Given the description of an element on the screen output the (x, y) to click on. 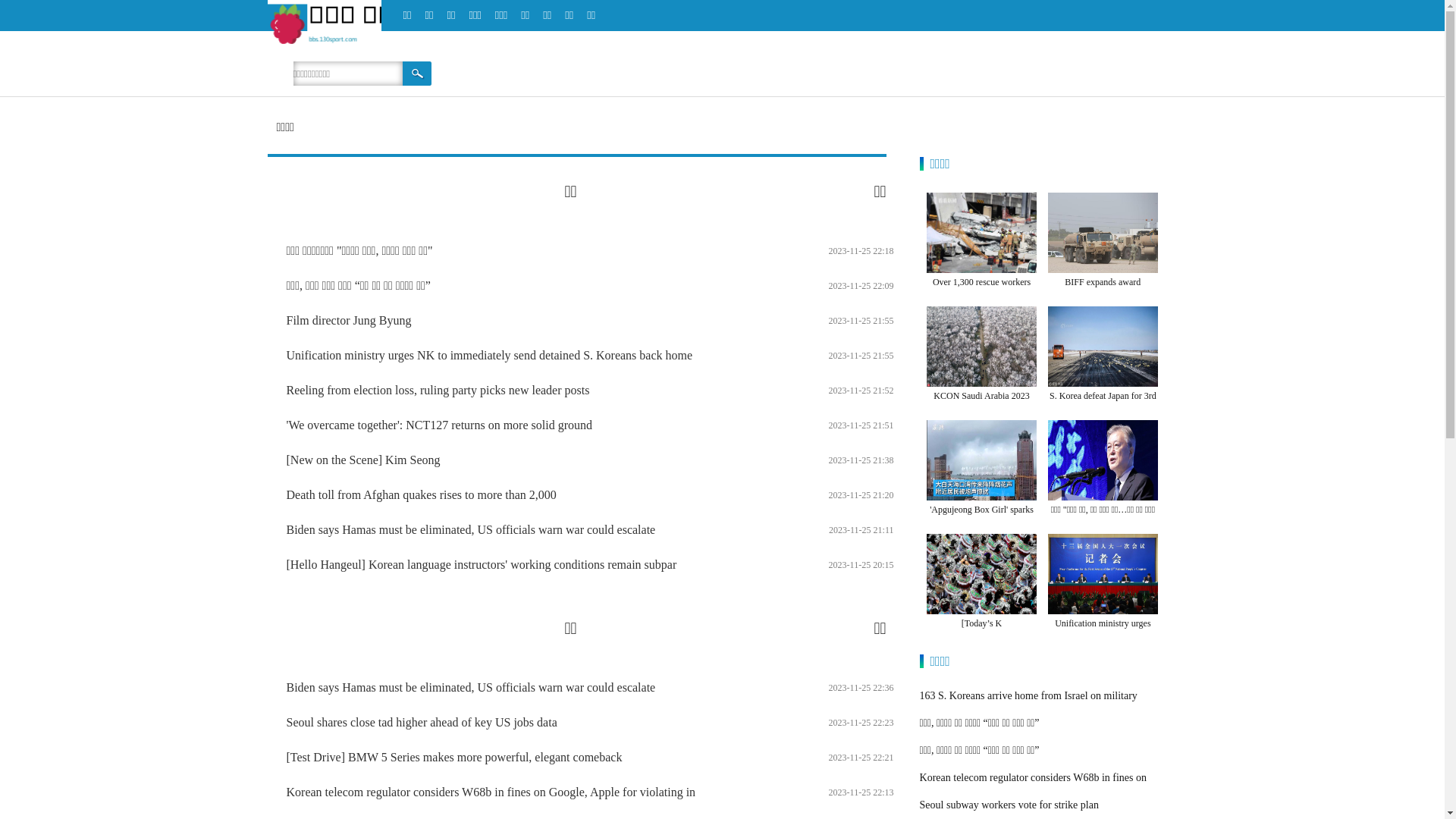
Death toll from Afghan quakes rises to more than 2,000 Element type: text (421, 494)
Film director Jung Byung Element type: text (348, 319)
Seoul subway workers vote for strike plan Element type: text (1008, 804)
KCON Saudi Arabia 2023 attracts 23,000 K Element type: text (981, 404)
'We overcame together': NCT127 returns on more solid ground Element type: text (439, 424)
Seoul shares close tad higher ahead of key US jobs data Element type: text (421, 721)
'Apgujeong Box Girl' sparks online debate Element type: text (981, 518)
S. Korea defeat Japan for 3rd straight men's football gold Element type: text (1102, 404)
163 S. Koreans arrive home from Israel on military aircraft Element type: text (1028, 709)
[New on the Scene] Kim Seong Element type: text (363, 459)
